Given the description of an element on the screen output the (x, y) to click on. 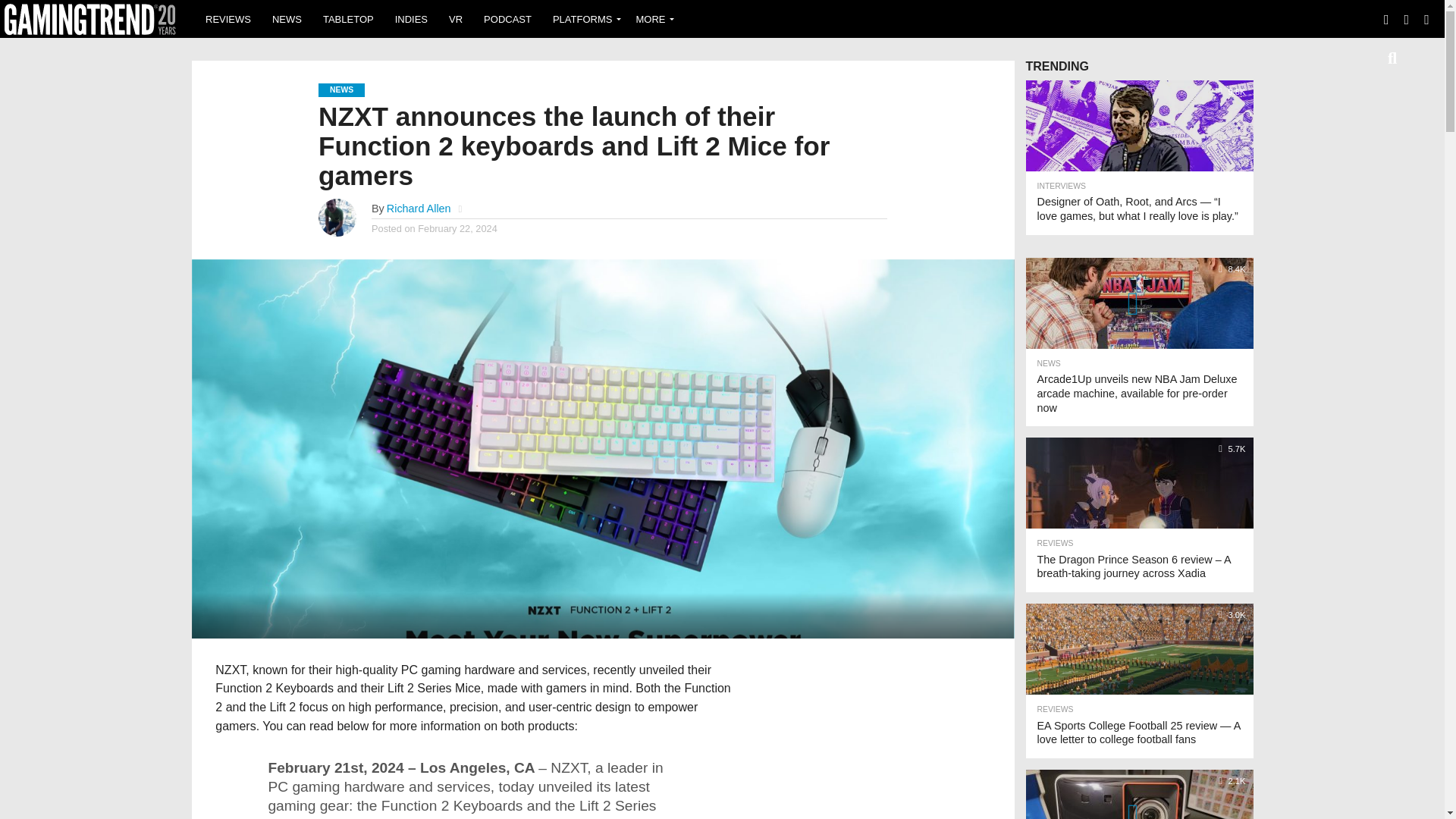
REVIEWS (228, 18)
TABLETOP (348, 18)
INDIES (411, 18)
NEWS (287, 18)
